Given the description of an element on the screen output the (x, y) to click on. 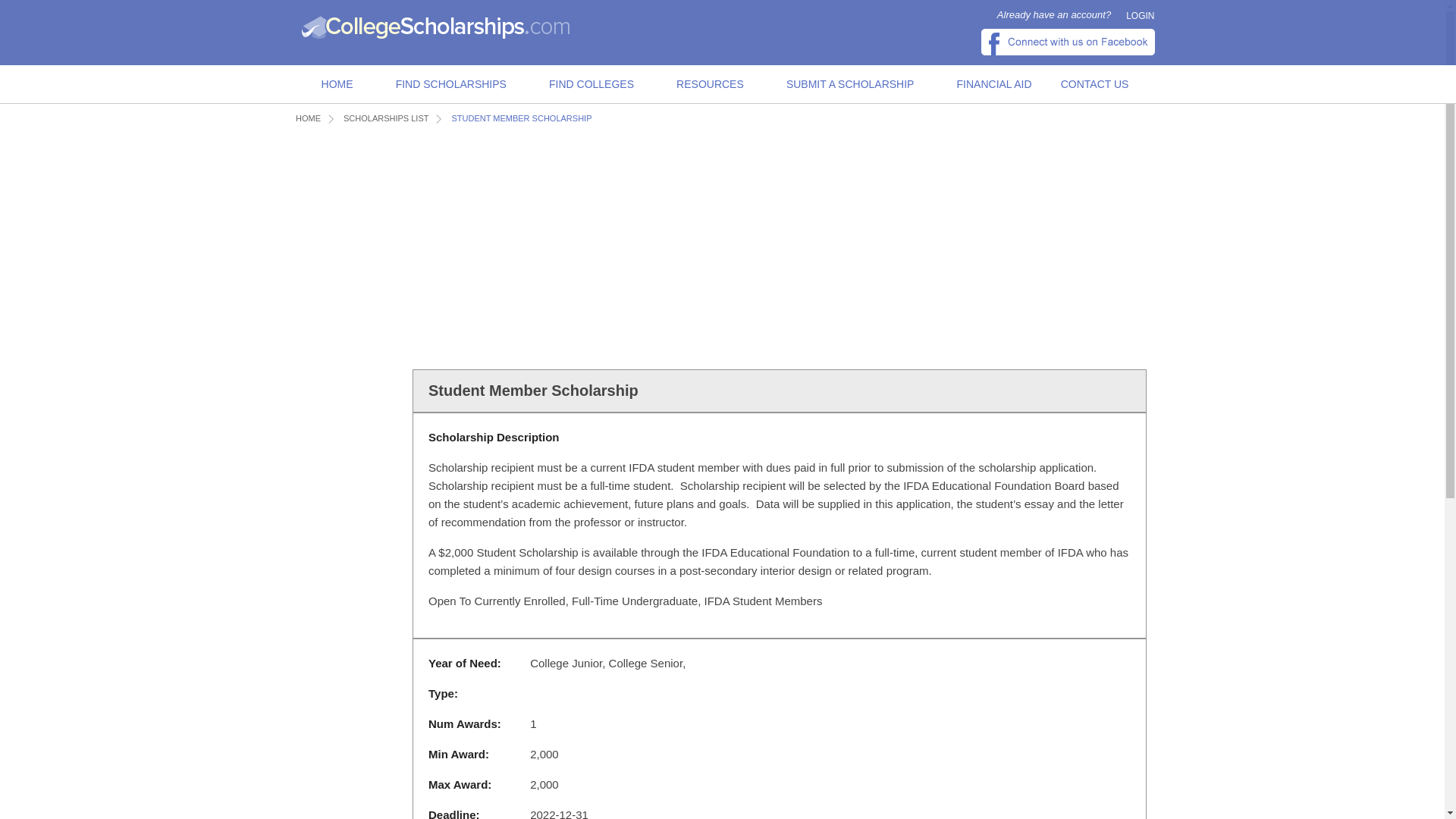
FIND COLLEGES (591, 84)
Advertisement (571, 245)
CONTACT US (1095, 84)
FIND SCHOLARSHIPS (450, 84)
FINANCIAL AID (994, 84)
HOME (336, 84)
LOGIN (1139, 15)
SUBMIT A SCHOLARSHIP (850, 84)
RESOURCES (709, 84)
